Given the description of an element on the screen output the (x, y) to click on. 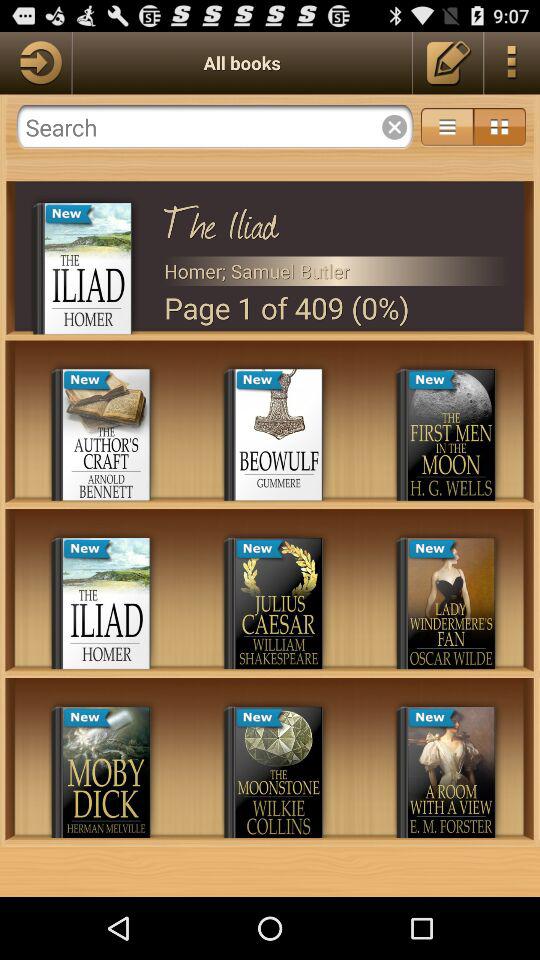
press homer; samuel butler icon (336, 270)
